Given the description of an element on the screen output the (x, y) to click on. 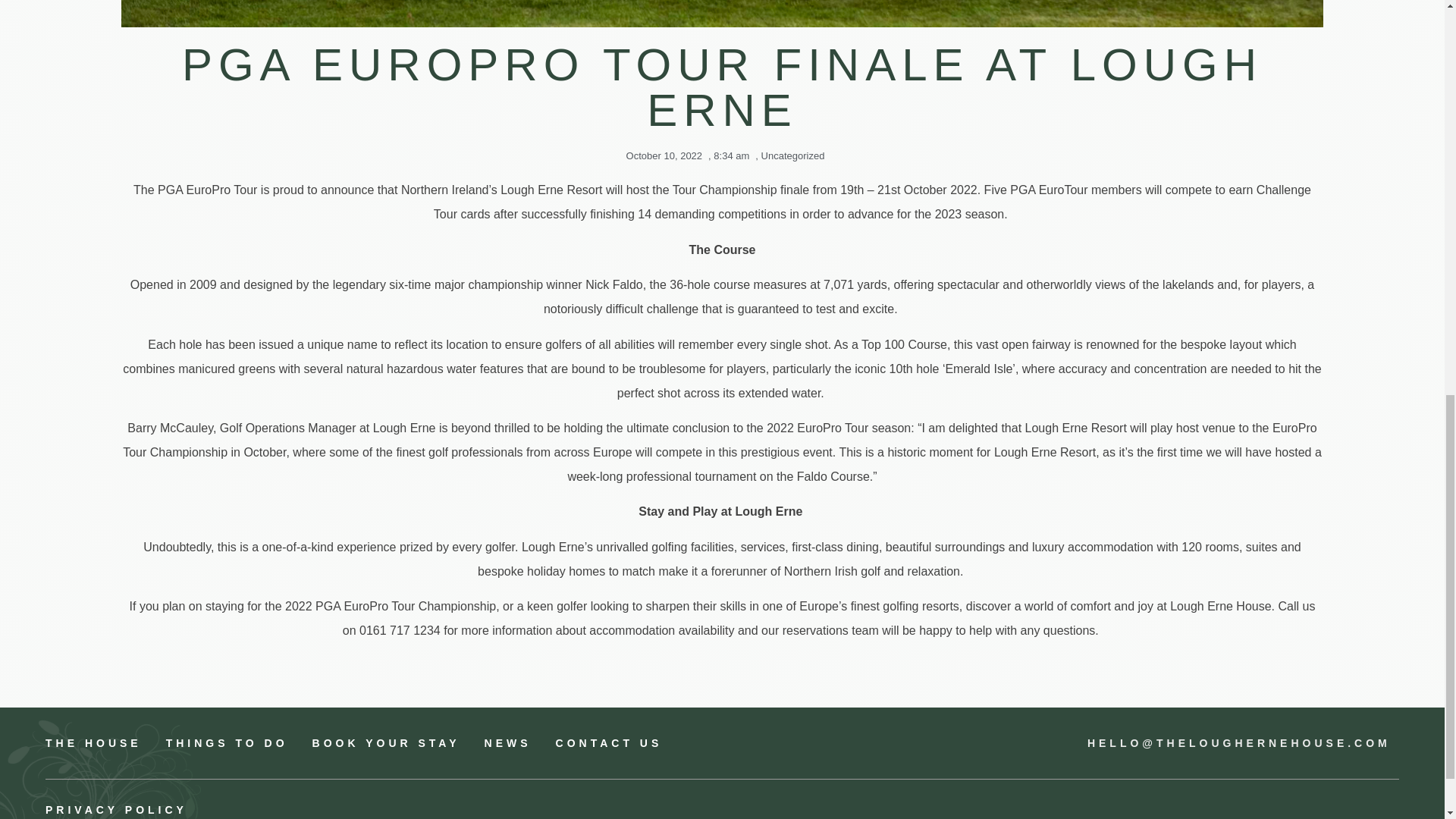
Uncategorized (793, 155)
NEWS (507, 743)
THINGS TO DO (226, 743)
THE HOUSE (93, 743)
PRIVACY POLICY (383, 809)
CONTACT US (609, 743)
BOOK YOUR STAY (386, 743)
October 10, 2022 (660, 155)
